Given the description of an element on the screen output the (x, y) to click on. 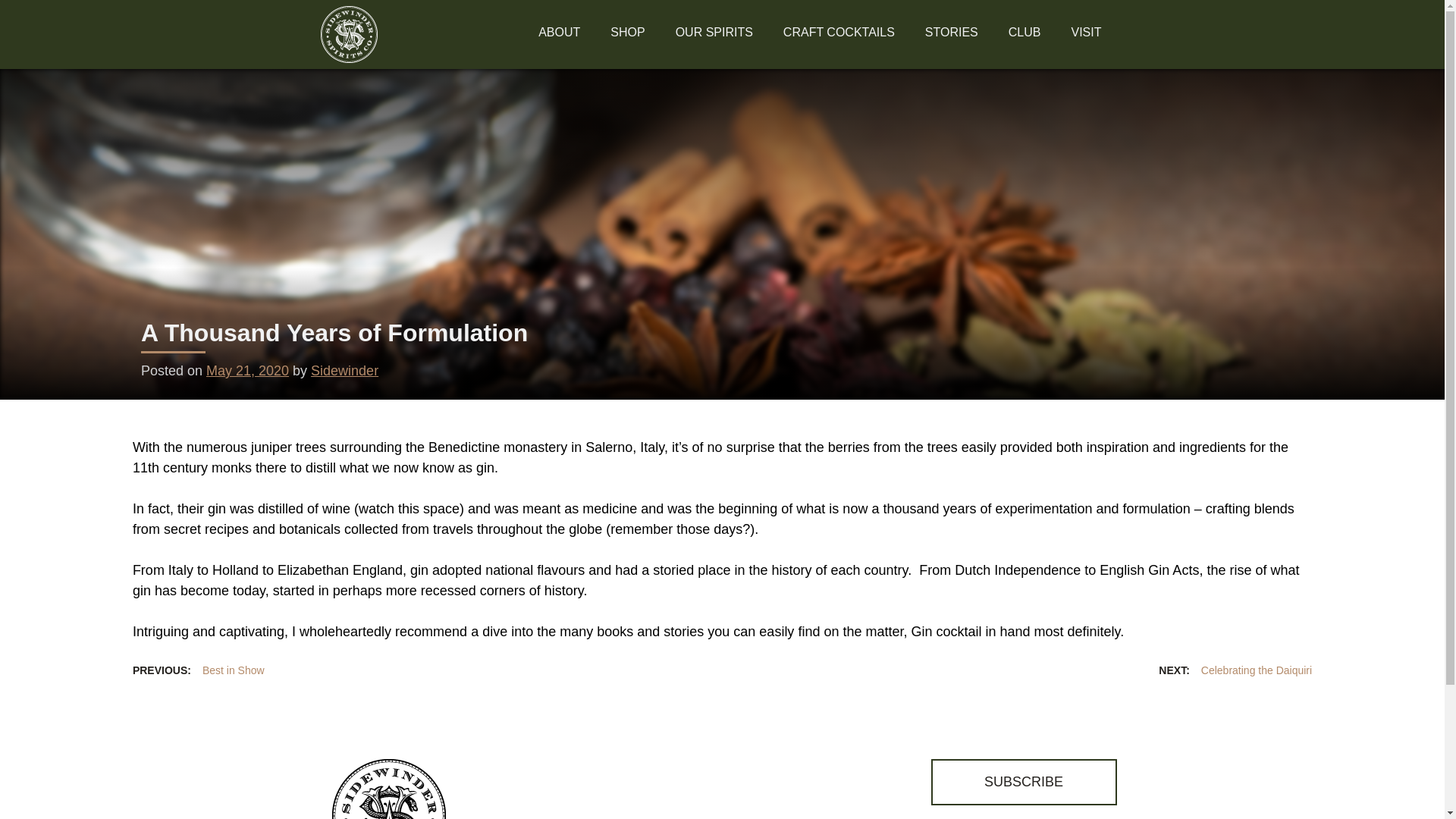
Sidewinder (344, 370)
STORIES (951, 34)
CRAFT COCKTAILS (839, 34)
CLUB (1024, 34)
VISIT (1085, 34)
OUR SPIRITS (714, 34)
May 21, 2020 (247, 370)
ABOUT (558, 34)
SUBSCRIBE (1023, 782)
Best in Show (198, 671)
